Given the description of an element on the screen output the (x, y) to click on. 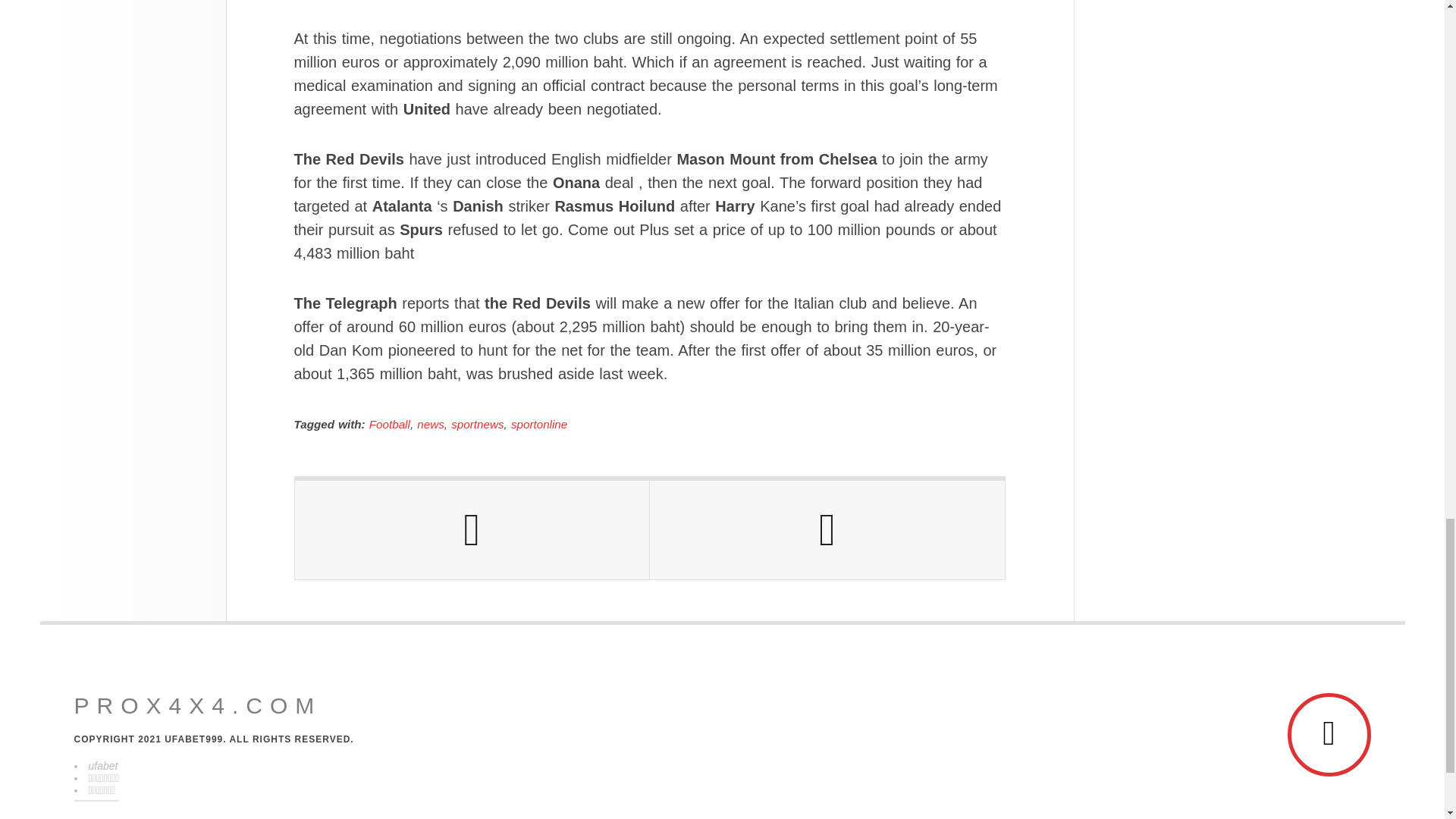
news (430, 423)
Football (389, 423)
sportnews (477, 423)
sportonline (539, 423)
Previous Post (471, 529)
Next Post (826, 529)
prox4x4.com (197, 705)
